Given the description of an element on the screen output the (x, y) to click on. 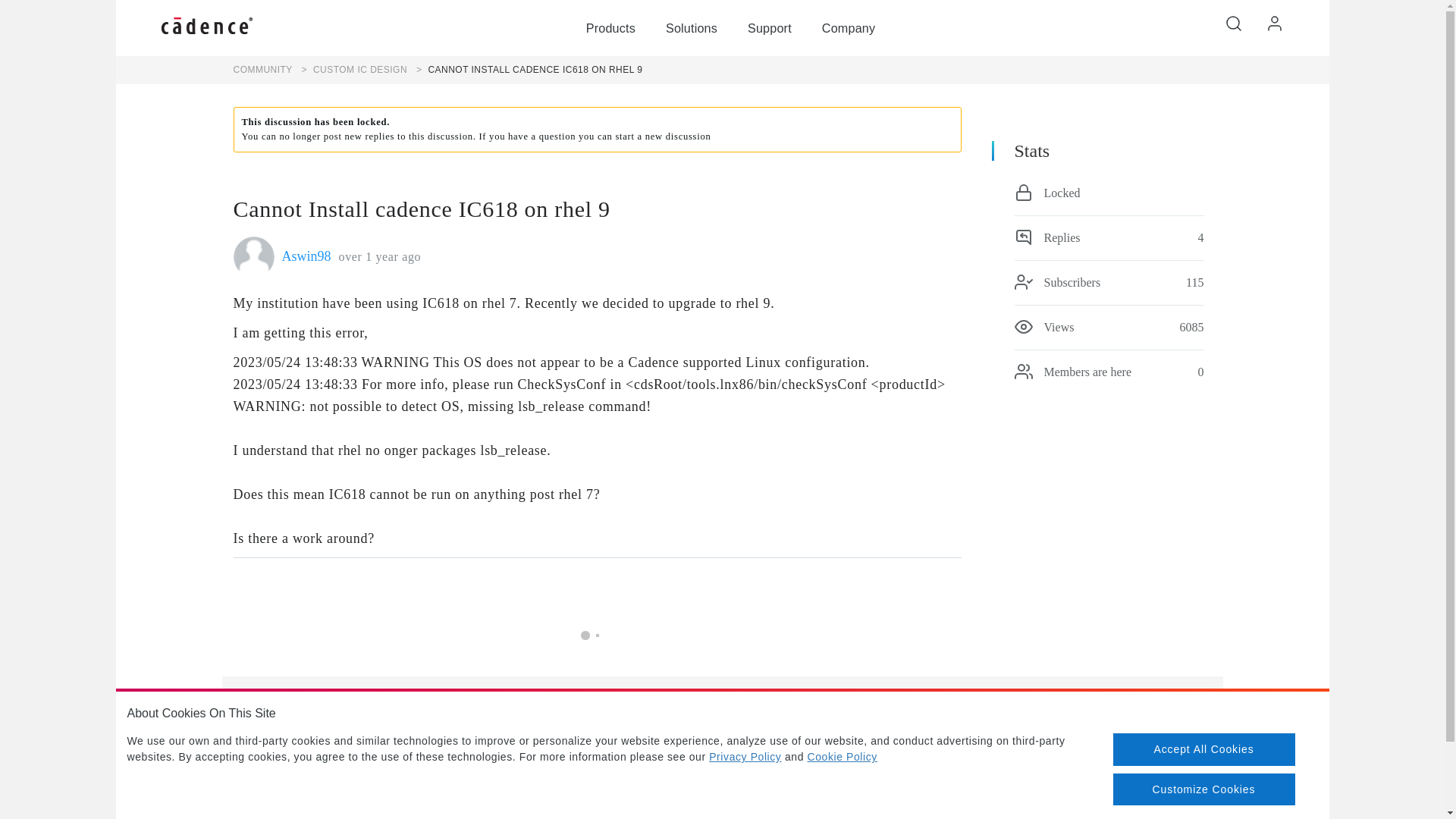
CUSTOM IC DESIGN (351, 69)
Products (610, 28)
Privacy Policy (744, 756)
Customize Cookies (1204, 789)
Company (848, 28)
Aswin98 (306, 256)
Community Guidelines (716, 790)
Solutions (691, 28)
Accept All Cookies (1204, 748)
COMMUNITY (262, 69)
Support (770, 28)
Cookie Policy (842, 756)
